Given the description of an element on the screen output the (x, y) to click on. 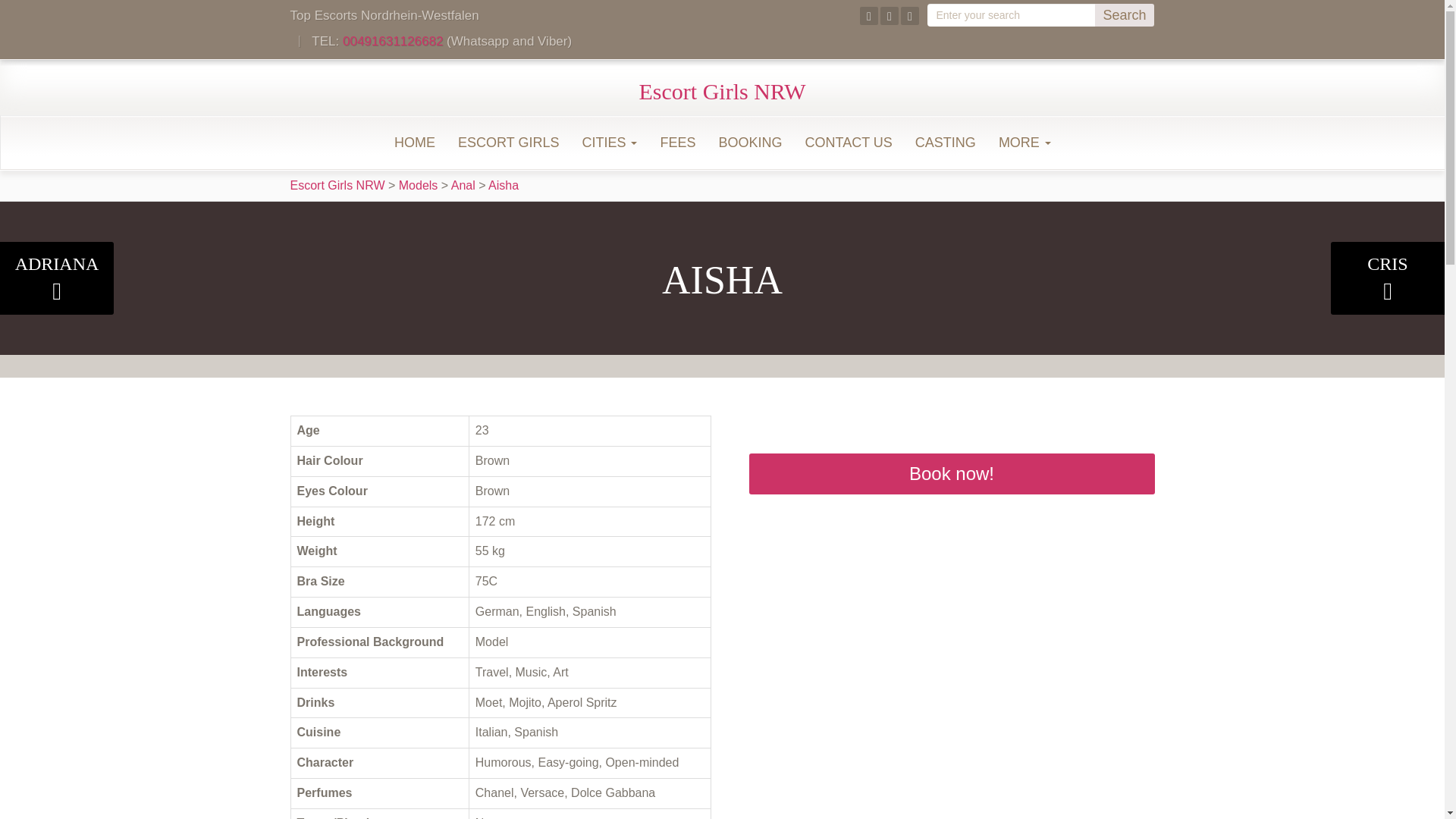
Escort Girls NRW (721, 91)
ESCORT GIRLS (508, 142)
Search (1123, 15)
Home (414, 142)
HOME (414, 142)
Escort Girls (508, 142)
Cities (608, 142)
00491631126682 (392, 41)
Deutsch (1141, 87)
CITIES (608, 142)
